Given the description of an element on the screen output the (x, y) to click on. 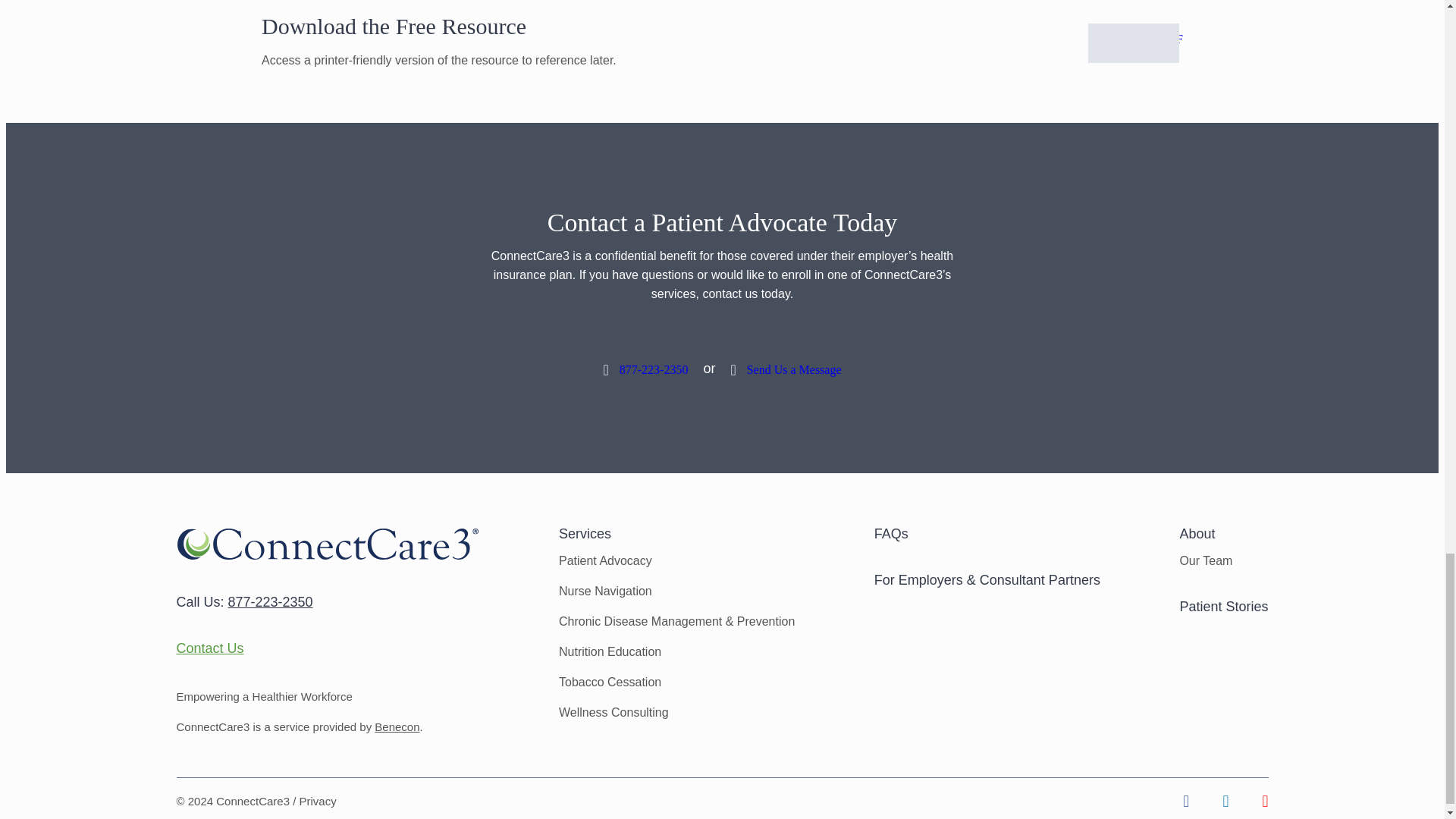
Services (585, 533)
FAQs (891, 533)
Download PDF (1137, 38)
Nurse Navigation (605, 590)
Contact Us (209, 648)
877-223-2350 (270, 601)
Tobacco Cessation (610, 681)
Benecon (396, 726)
Wellness Consulting (613, 712)
Send Us a Message (785, 368)
